Given the description of an element on the screen output the (x, y) to click on. 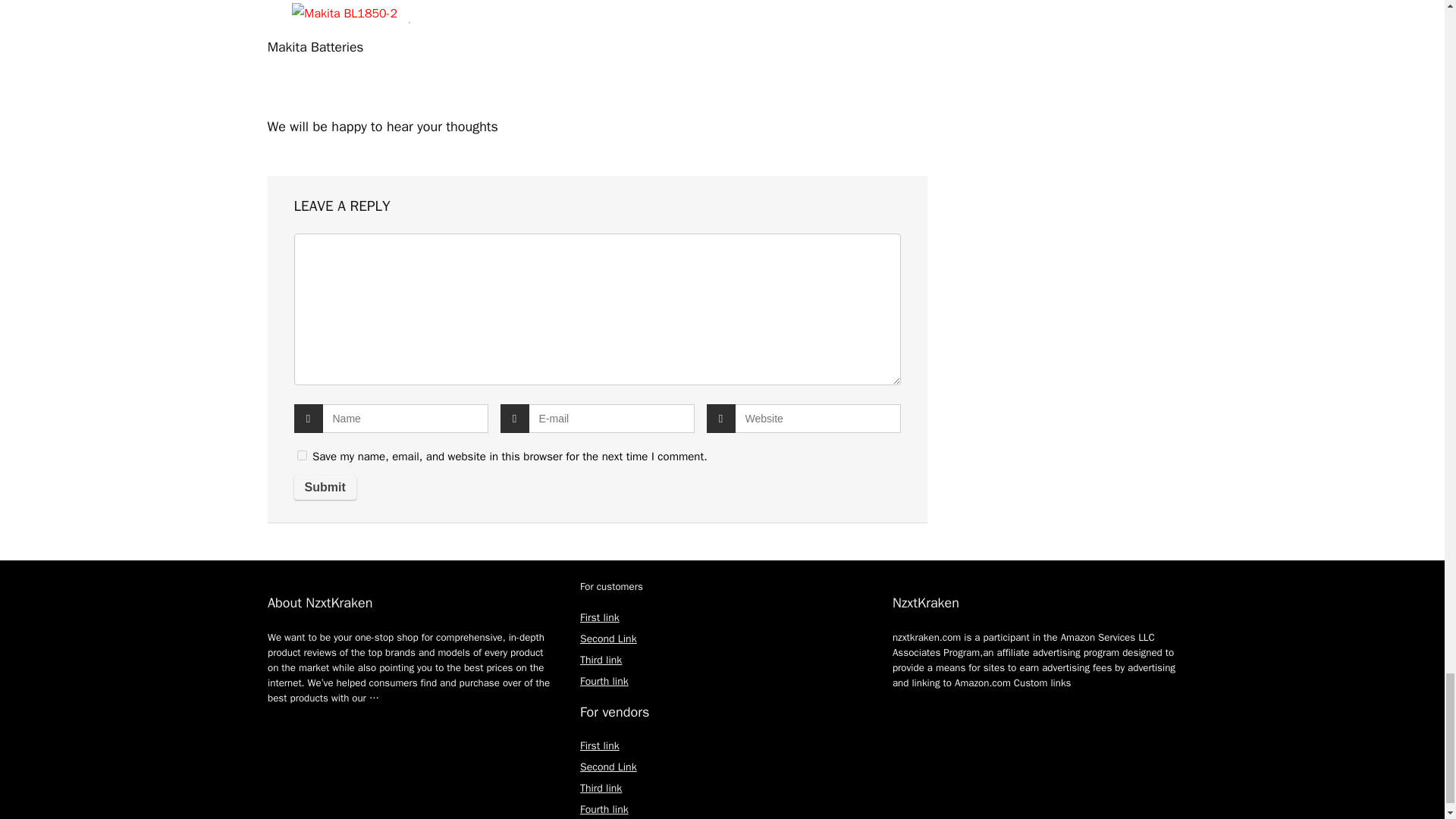
yes (302, 455)
Submit (325, 487)
